Given the description of an element on the screen output the (x, y) to click on. 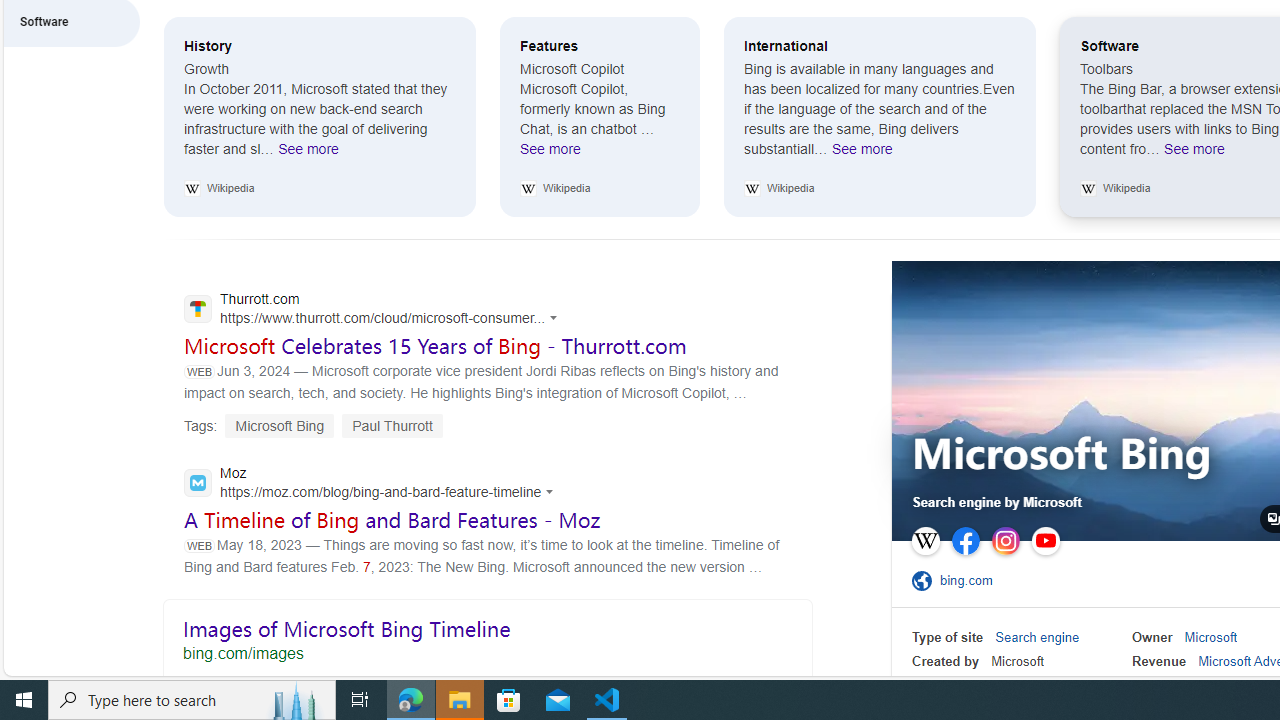
Search engine (1037, 637)
Facebook (966, 541)
Global web icon (197, 483)
Microsoft (1210, 637)
See more International (861, 153)
Official Site (925, 580)
See more Software (1193, 153)
Thurrott.com (376, 310)
Microsoft Bing (1061, 455)
bing.com (971, 580)
Tags: Microsoft Bing Paul Thurrott (313, 425)
See more History (308, 153)
A Timeline of Bing and Bard Features - Moz (392, 519)
Class: sp-ofsite (921, 580)
